Given the description of an element on the screen output the (x, y) to click on. 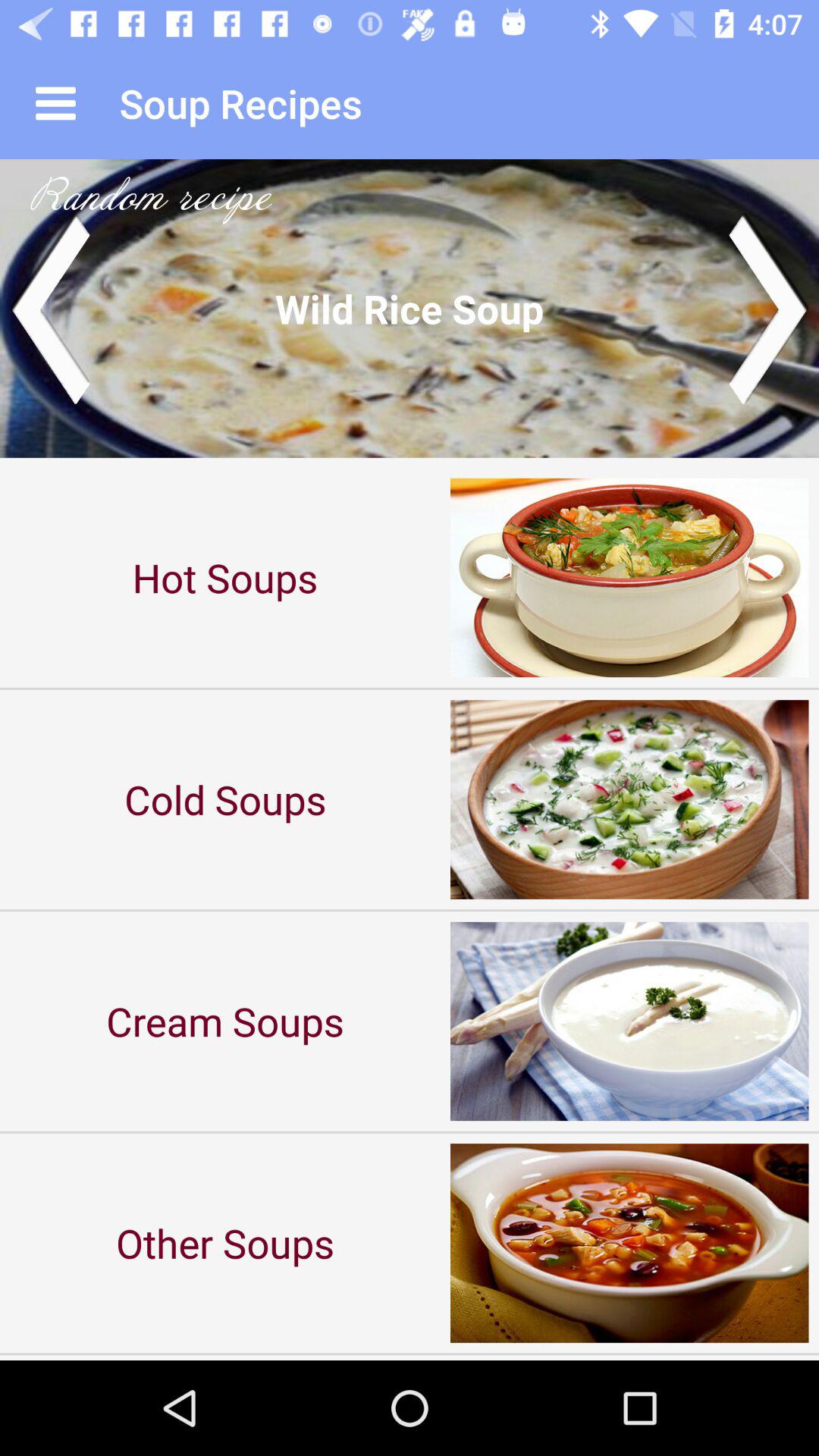
choose cream soups (225, 1020)
